Given the description of an element on the screen output the (x, y) to click on. 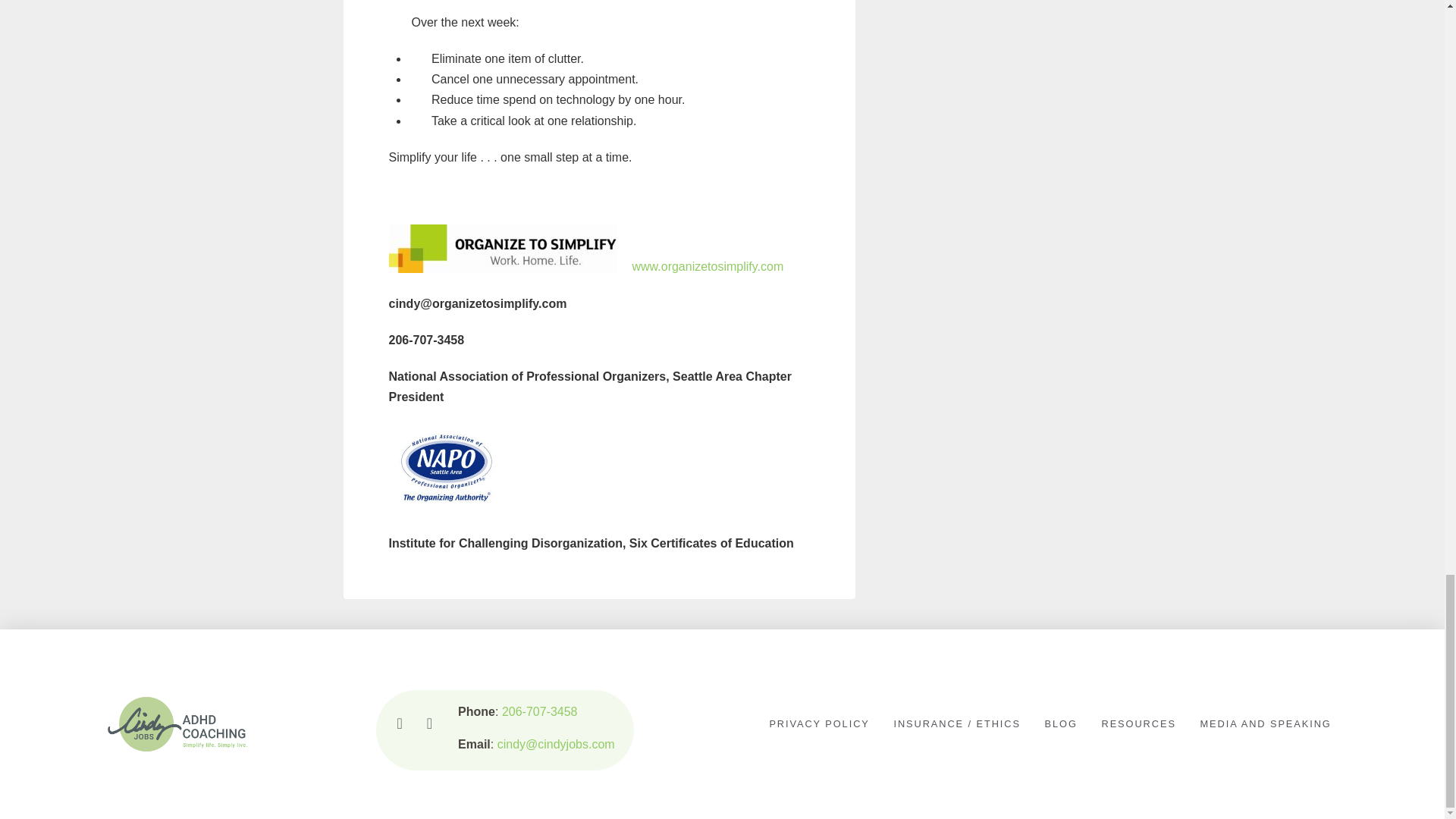
www.organizetosimplify.com (707, 266)
PRIVACY POLICY (818, 724)
RESOURCES (1137, 724)
MEDIA AND SPEAKING (1265, 724)
BLOG (1059, 724)
206-707-3458 (540, 711)
